Given the description of an element on the screen output the (x, y) to click on. 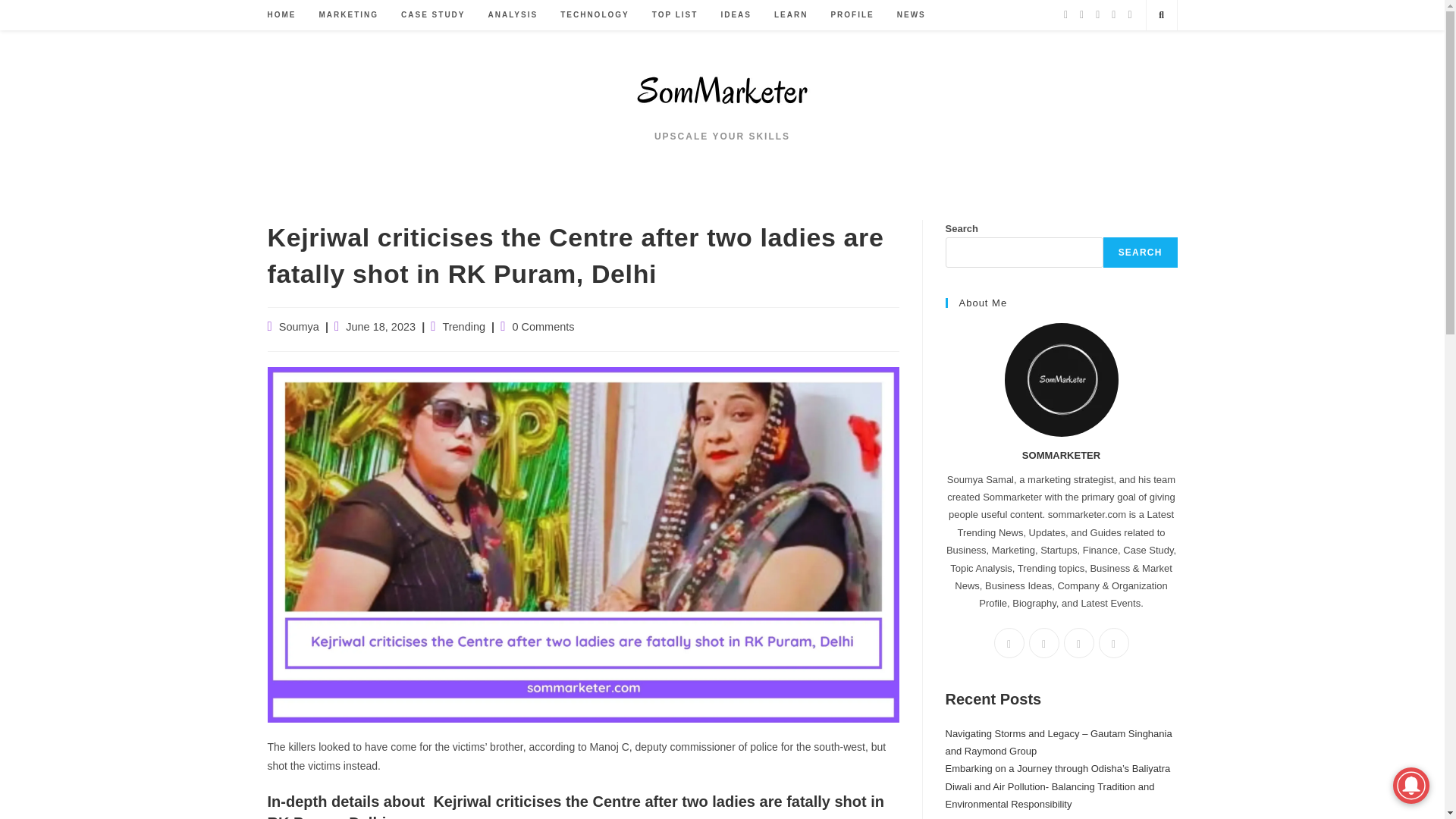
HOME (281, 15)
LEARN (790, 15)
CASE STUDY (433, 15)
MARKETING (348, 15)
Posts by Soumya (298, 326)
IDEAS (735, 15)
TECHNOLOGY (594, 15)
TOP LIST (675, 15)
PROFILE (851, 15)
ANALYSIS (513, 15)
NEWS (911, 15)
